Given the description of an element on the screen output the (x, y) to click on. 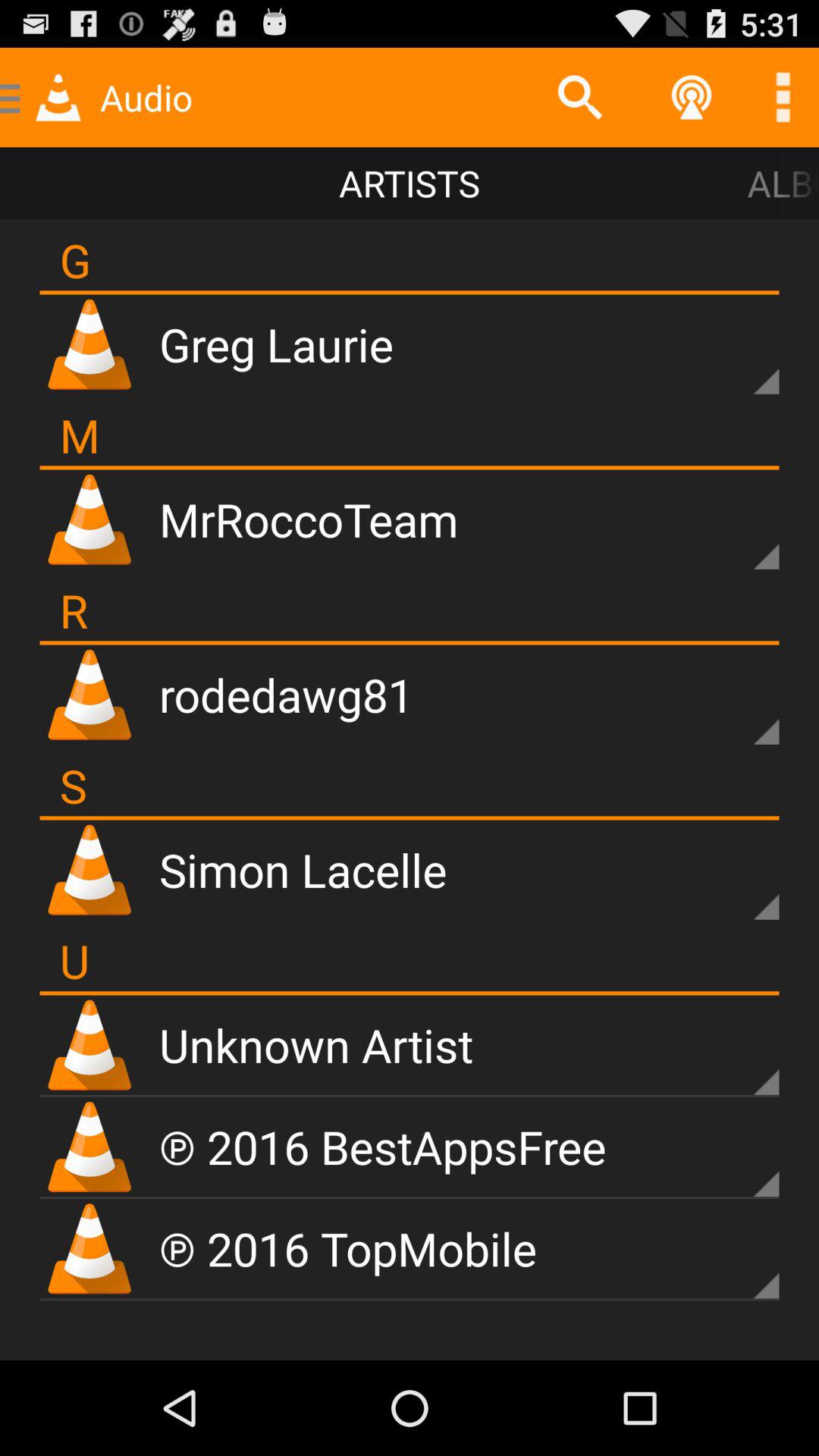
select user (740, 355)
